Given the description of an element on the screen output the (x, y) to click on. 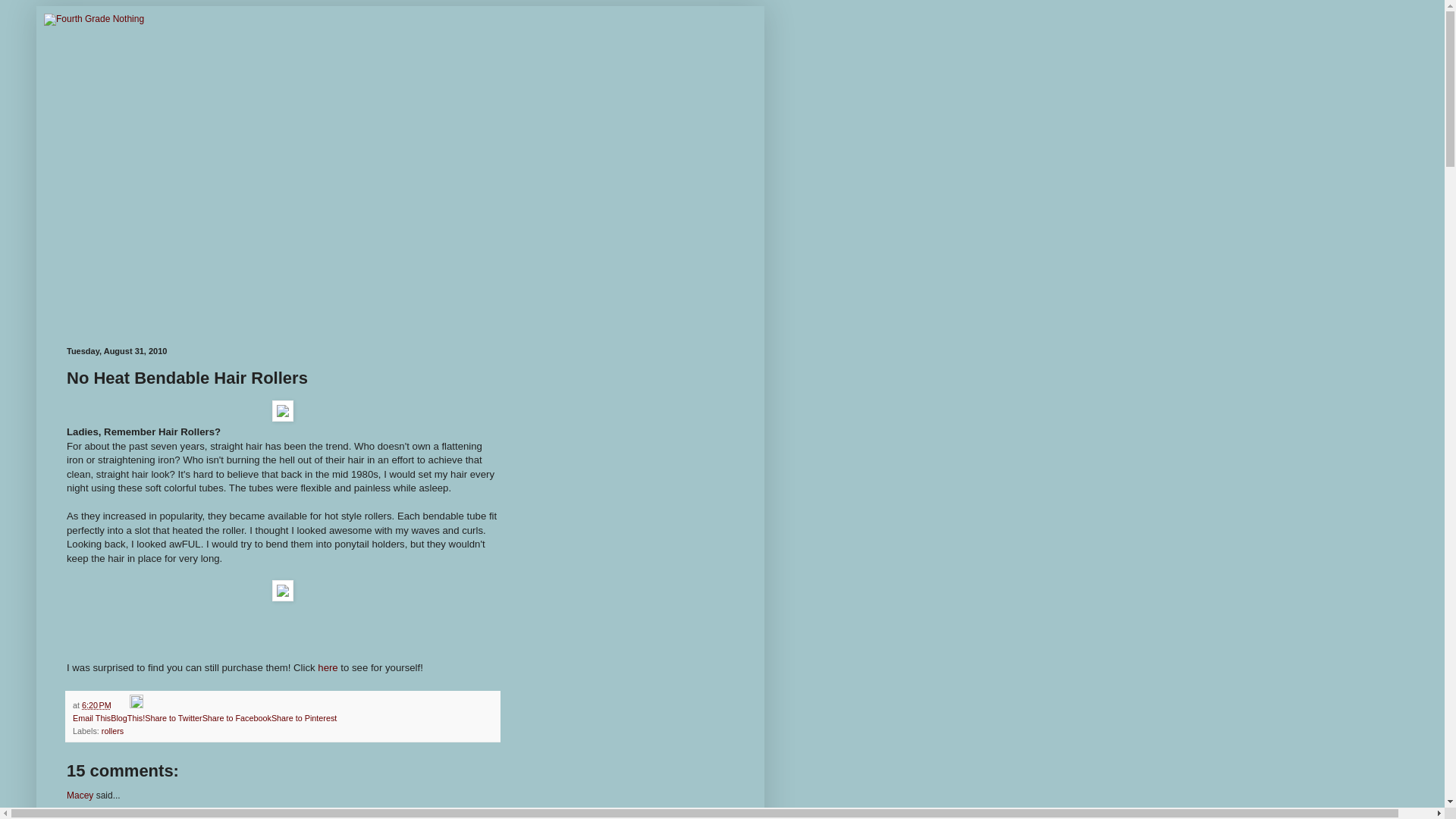
Edit Post (135, 705)
Share to Twitter (173, 717)
Share to Facebook (236, 717)
Share to Pinterest (303, 717)
Macey (79, 795)
permanent link (96, 705)
BlogThis! (127, 717)
Share to Pinterest (303, 717)
here (328, 667)
Share to Twitter (173, 717)
Share to Facebook (236, 717)
Email Post (121, 705)
Email This (91, 717)
rollers (112, 730)
